Given the description of an element on the screen output the (x, y) to click on. 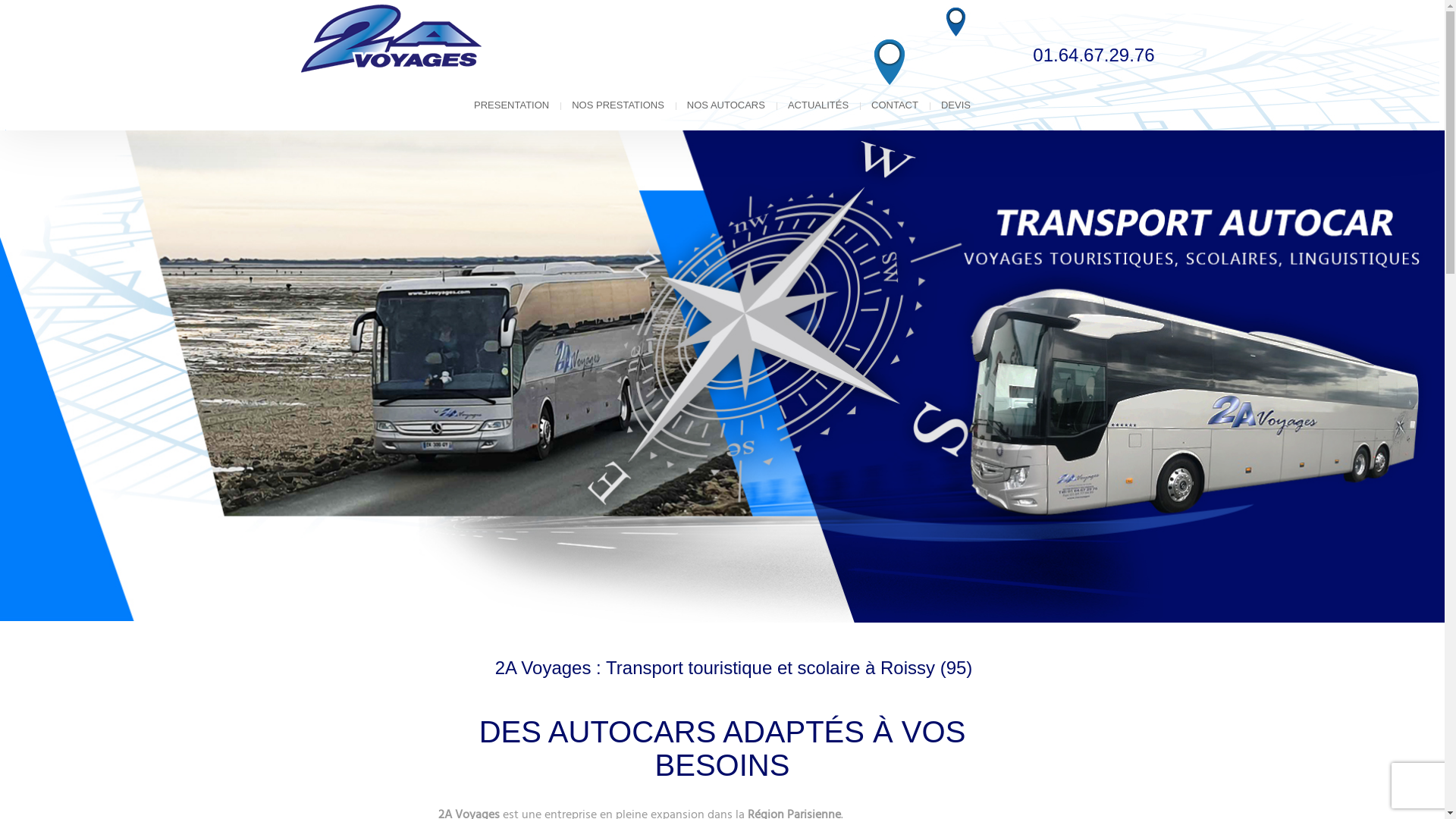
01.64.67.29.76 Element type: text (1093, 54)
NOS AUTOCARS Element type: text (725, 104)
DEVIS Element type: text (955, 104)
PRESENTATION Element type: text (511, 104)
CONTACT Element type: text (894, 104)
NOS PRESTATIONS Element type: text (617, 104)
